Given the description of an element on the screen output the (x, y) to click on. 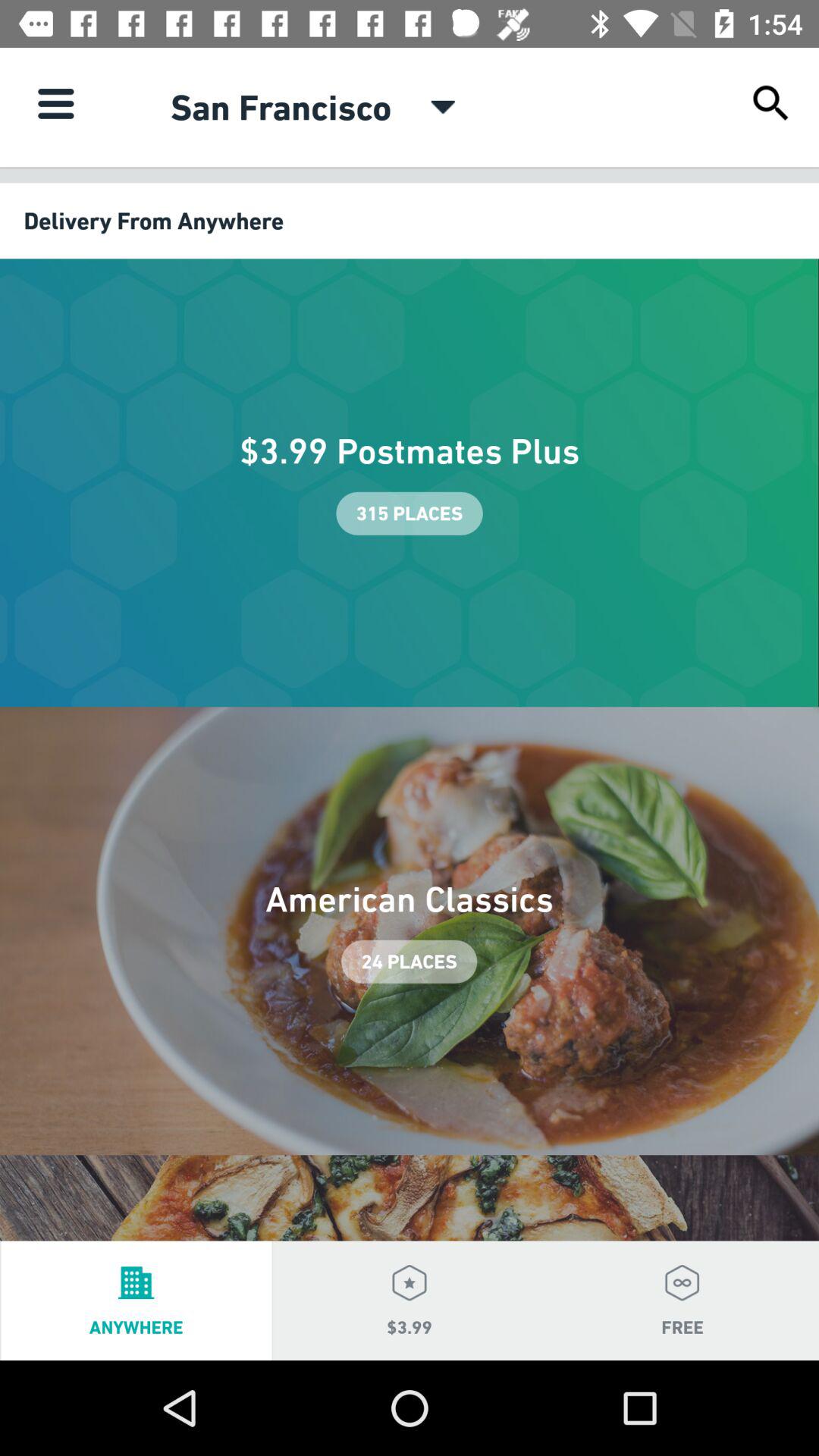
choose the item at the top right corner (771, 103)
